Given the description of an element on the screen output the (x, y) to click on. 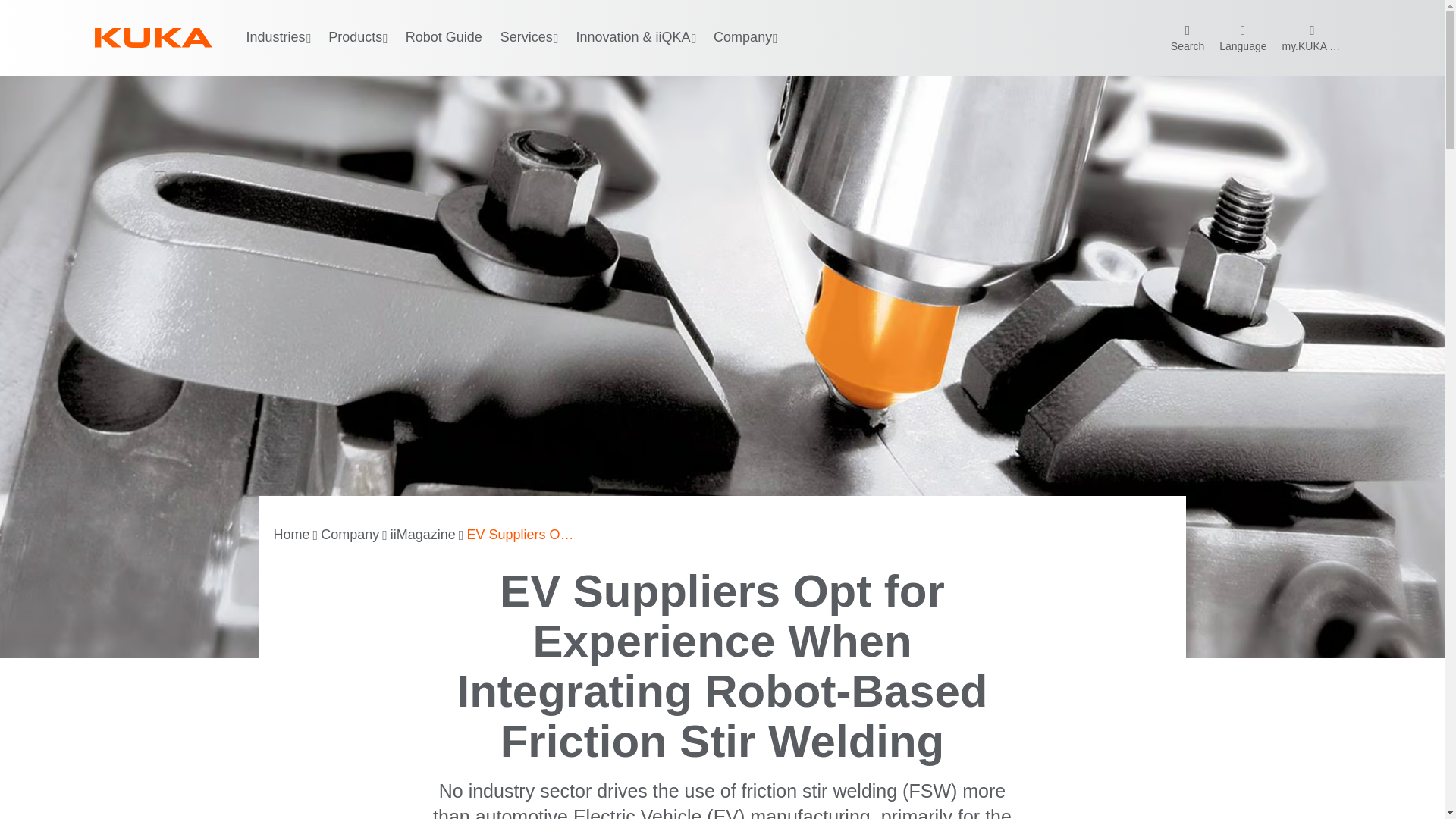
Company (349, 535)
iiMagazine (422, 535)
Home (291, 535)
